Given the description of an element on the screen output the (x, y) to click on. 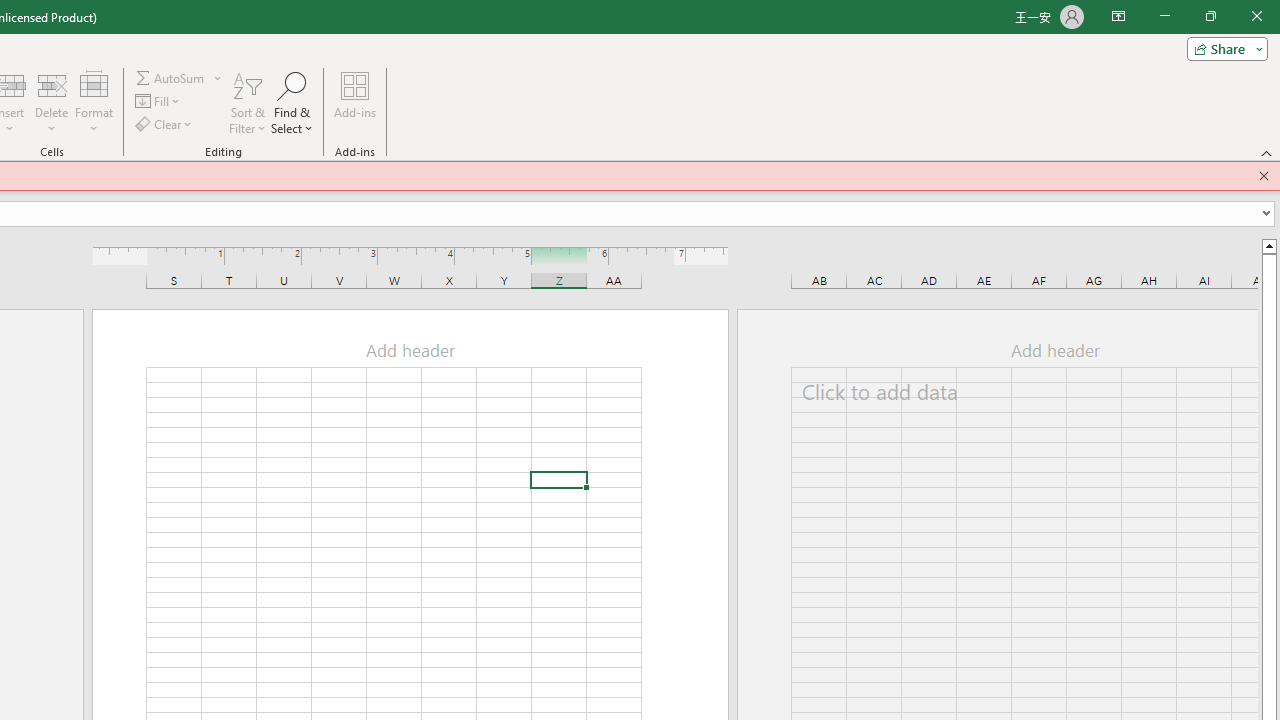
Sort & Filter (247, 102)
Sum (171, 78)
Format (94, 102)
Fill (158, 101)
AutoSum (178, 78)
Find & Select (292, 102)
